Given the description of an element on the screen output the (x, y) to click on. 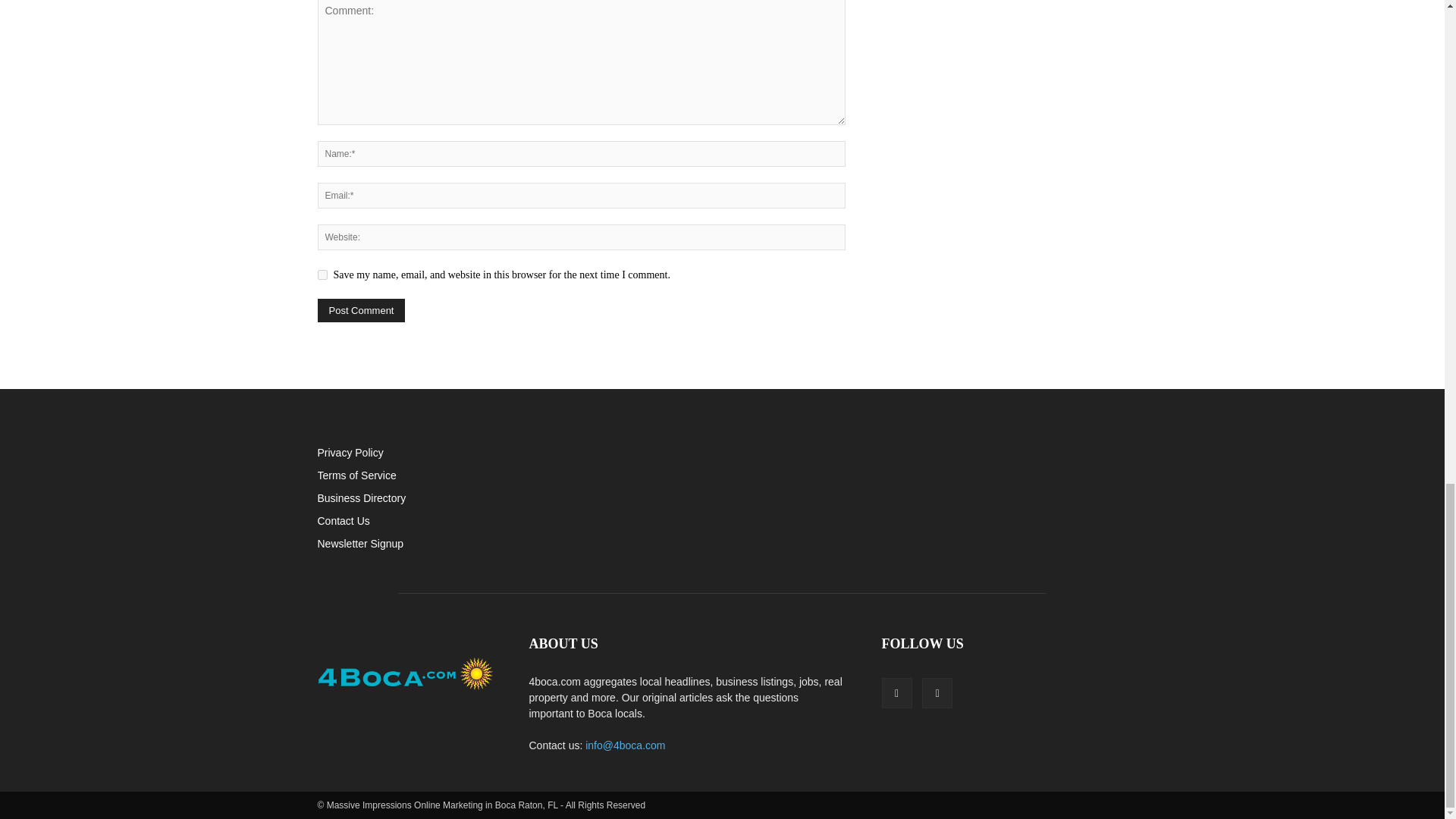
Post Comment (360, 310)
yes (321, 275)
Twitter (936, 693)
Facebook (895, 693)
